Given the description of an element on the screen output the (x, y) to click on. 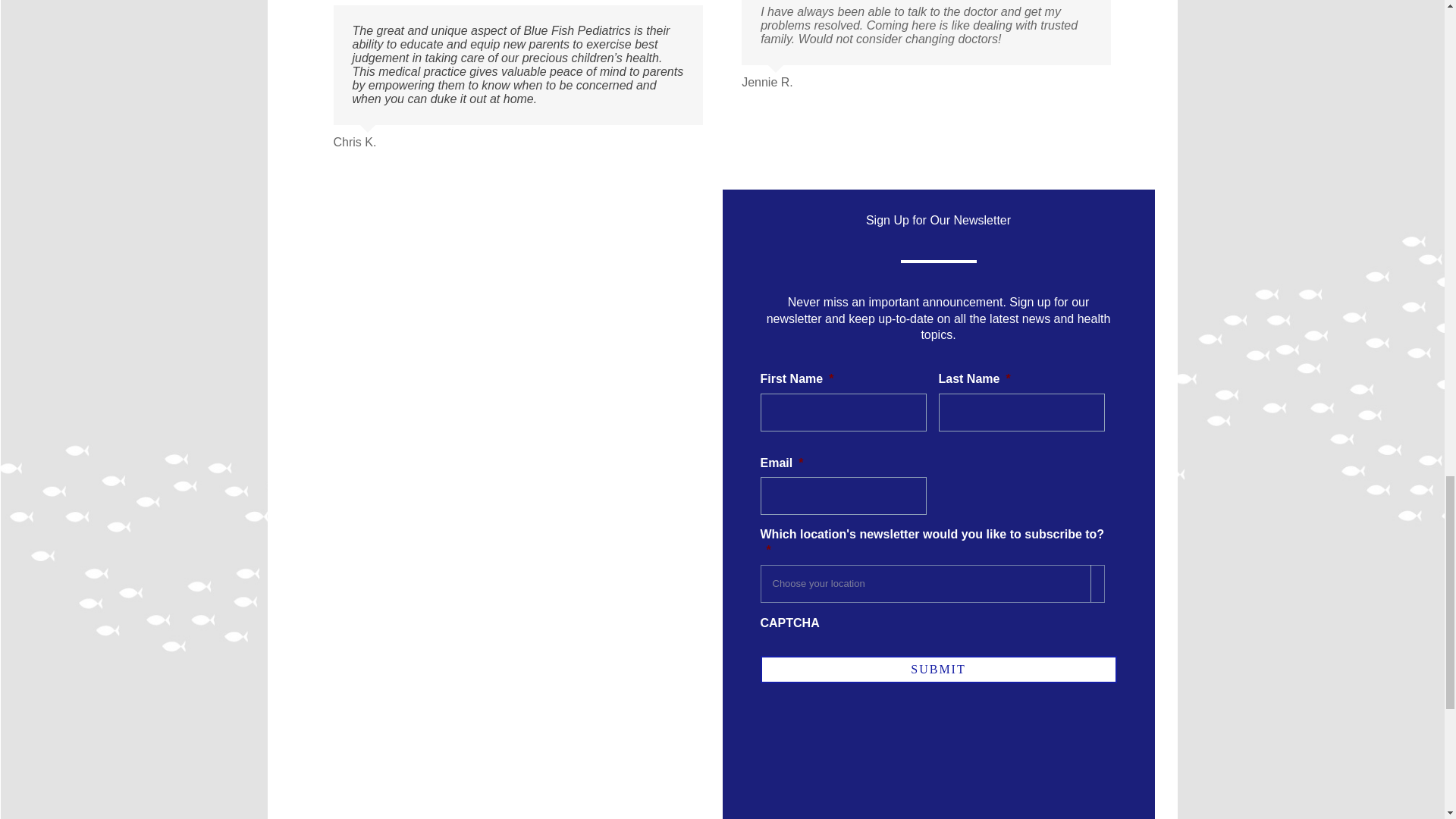
Submit (938, 669)
